Given the description of an element on the screen output the (x, y) to click on. 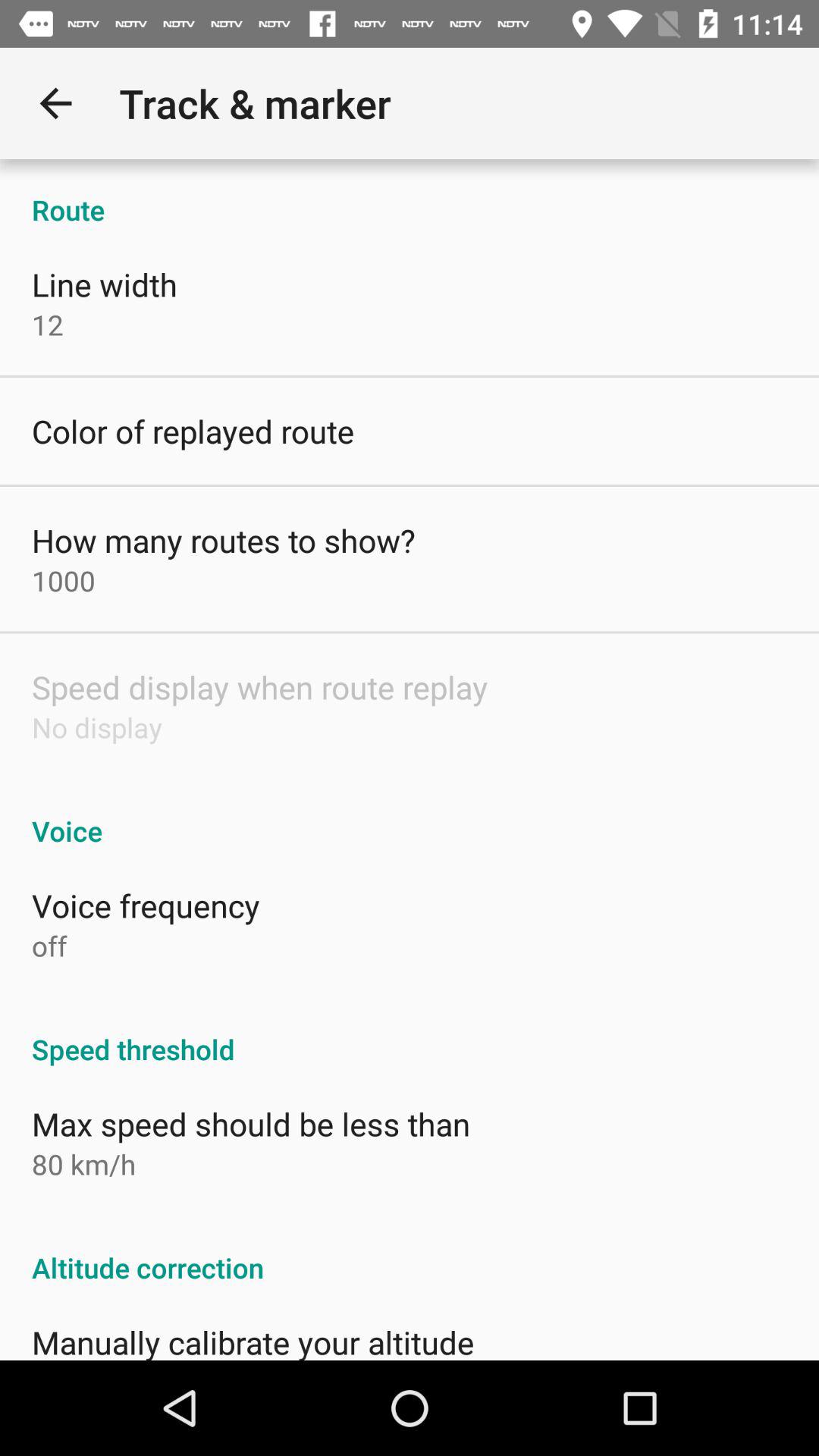
select item above route (55, 103)
